Given the description of an element on the screen output the (x, y) to click on. 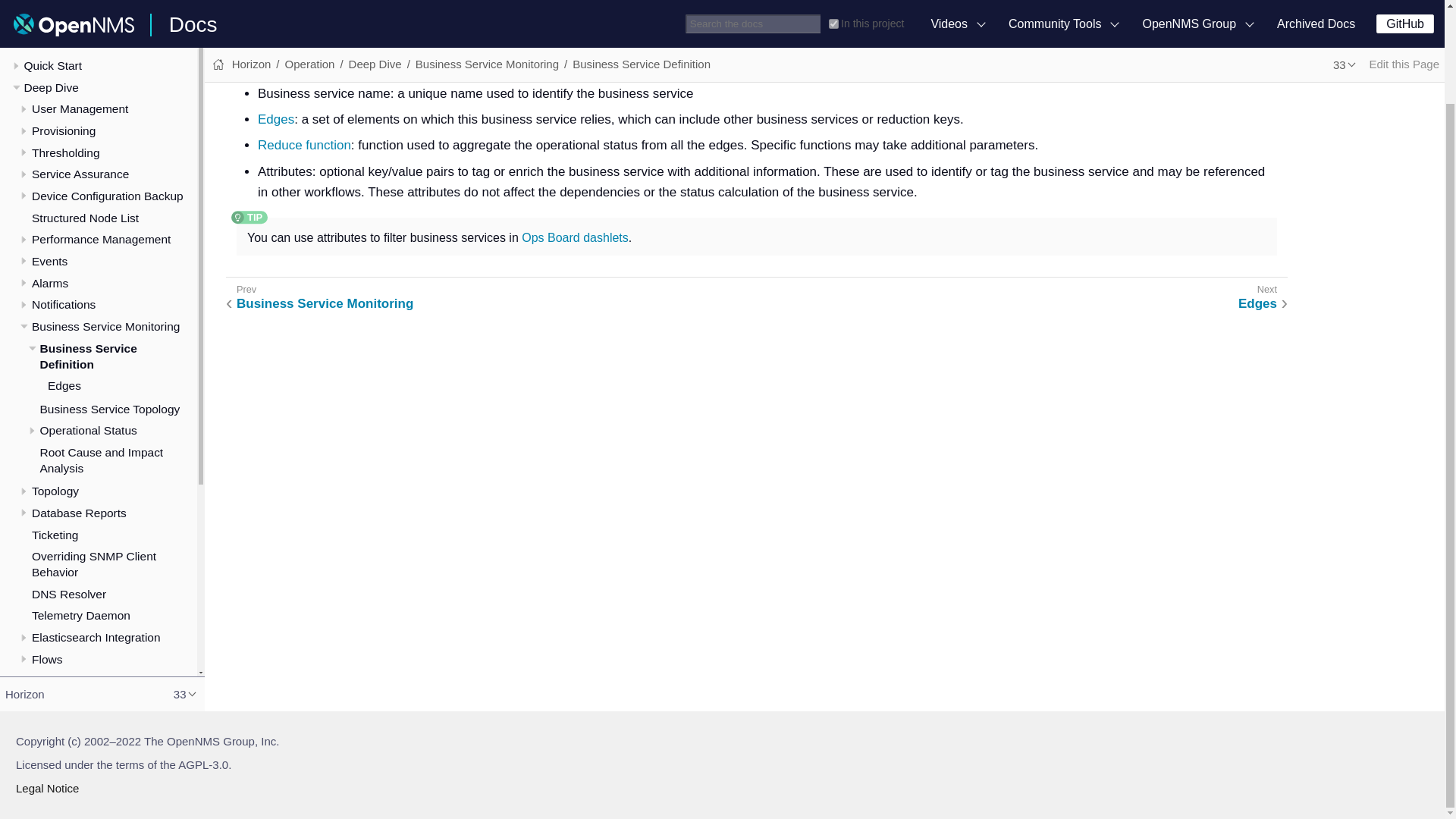
Tip (248, 217)
